Given the description of an element on the screen output the (x, y) to click on. 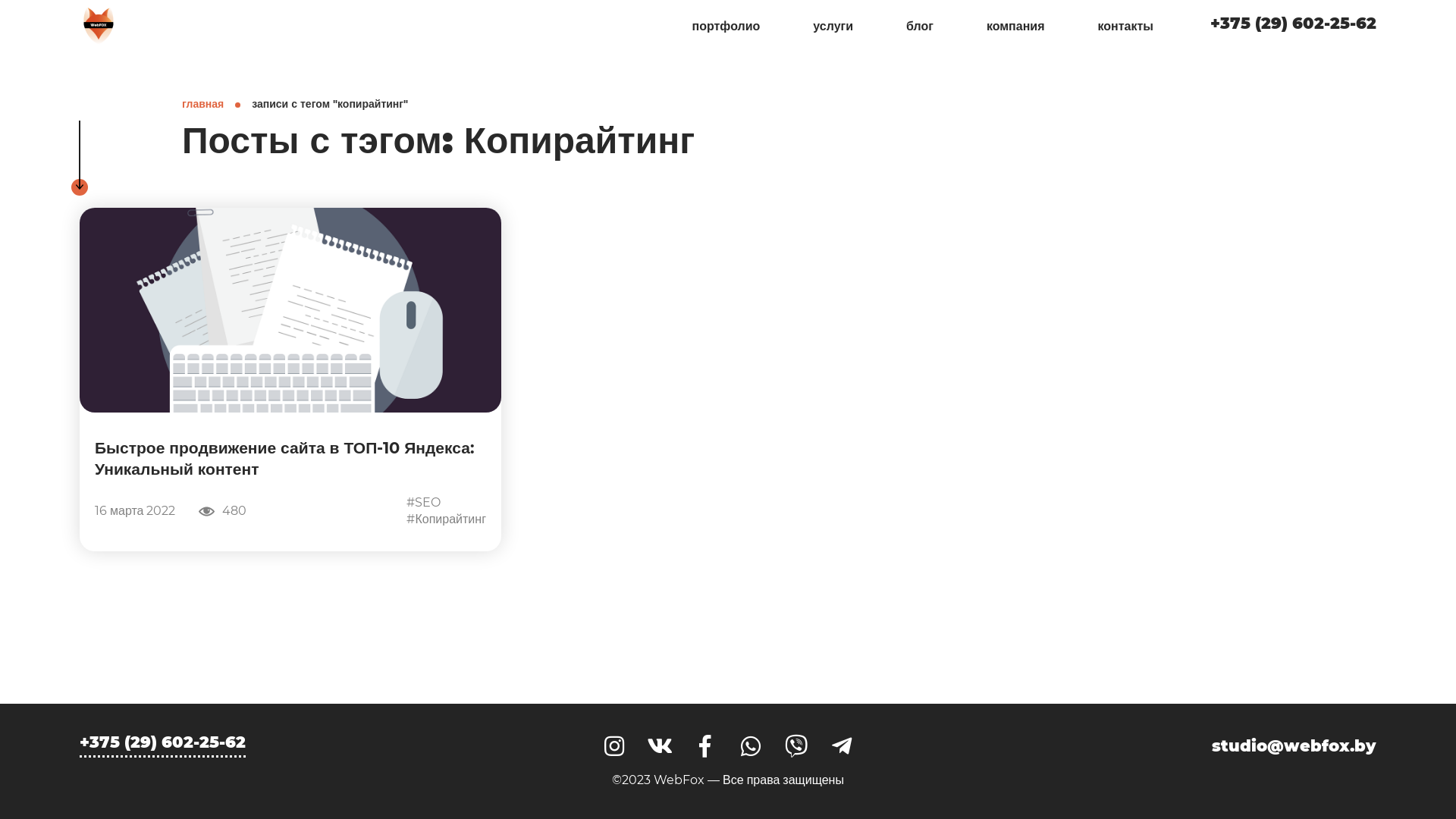
+375 (29) 602-25-62 Element type: text (1293, 26)
studio@webfox.by Element type: text (1293, 745)
+375 (29) 602-25-62 Element type: text (162, 745)
